Given the description of an element on the screen output the (x, y) to click on. 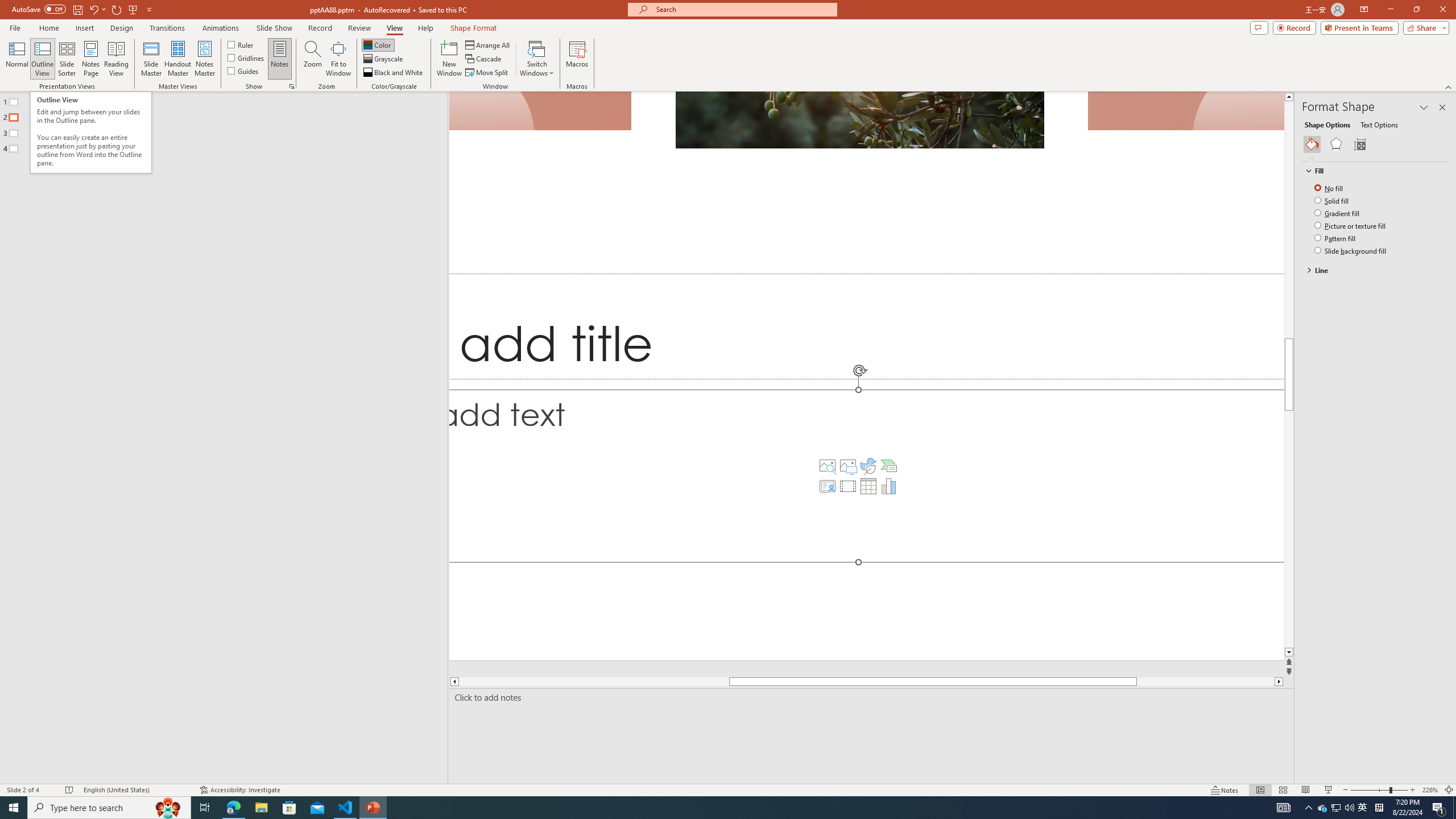
Fill & Line (1311, 144)
Slide Master (151, 58)
Gradient fill (1337, 212)
Fill (1370, 170)
